Given the description of an element on the screen output the (x, y) to click on. 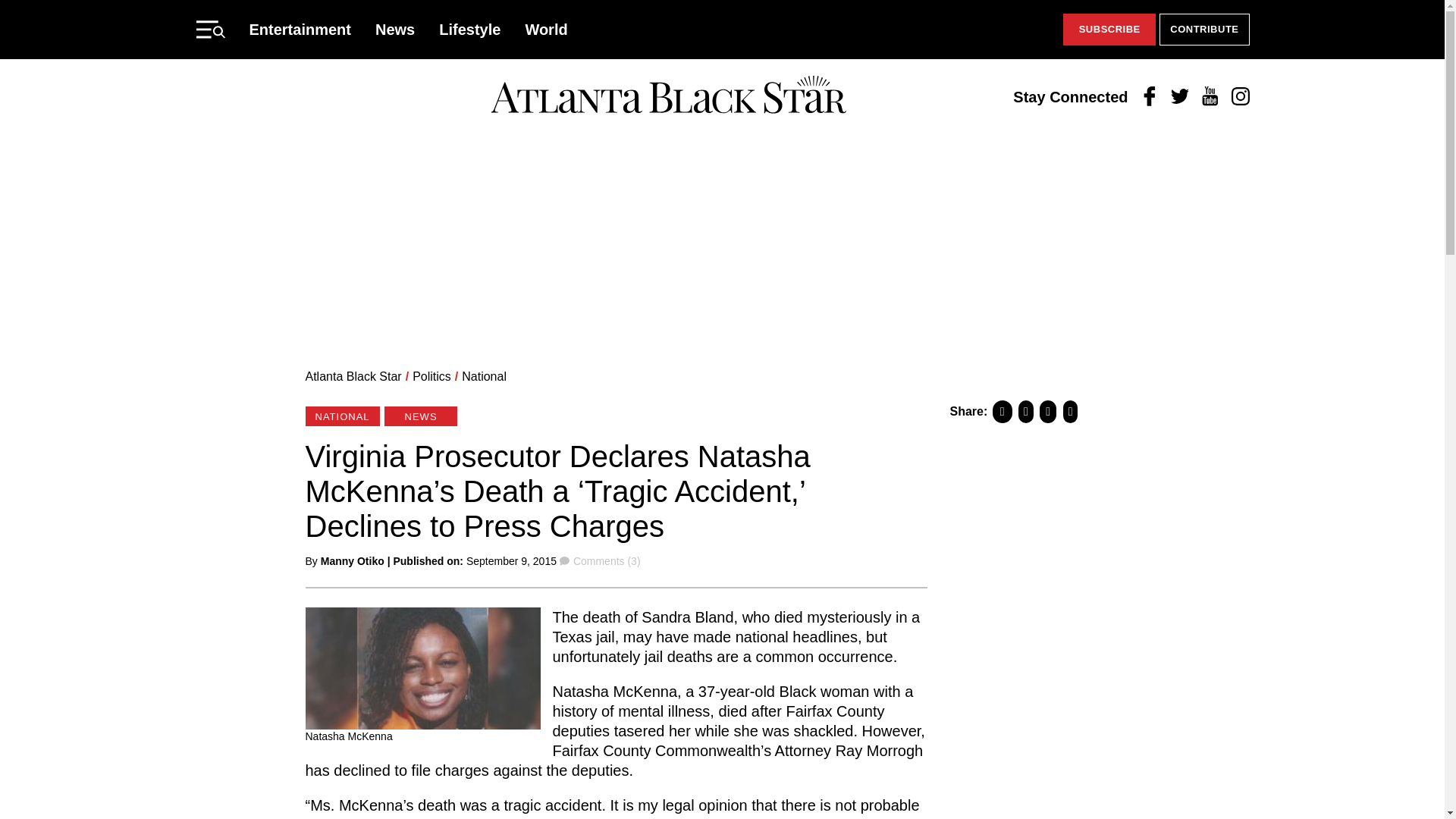
NATIONAL (341, 415)
Go to the National Category archives. (483, 376)
Lifestyle (469, 29)
World (545, 29)
Go to the Politics Category archives. (431, 376)
Atlanta Black Star (352, 376)
News (394, 29)
Go to Atlanta Black Star. (352, 376)
Atlanta Black Star (667, 96)
SUBSCRIBE (1109, 29)
